Given the description of an element on the screen output the (x, y) to click on. 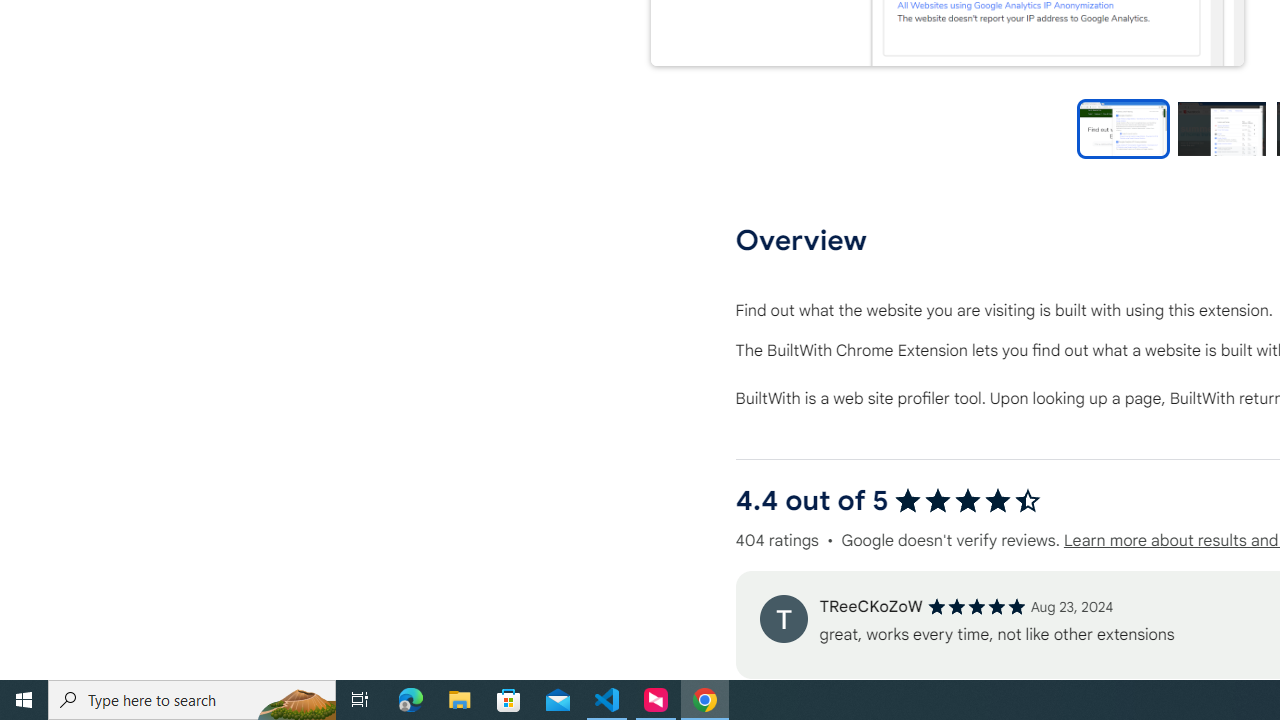
Type here to search (191, 699)
Search highlights icon opens search home window (295, 699)
Preview slide 2 (1221, 128)
Microsoft Edge (411, 699)
File Explorer (460, 699)
5 out of 5 stars (975, 606)
Start (24, 699)
Preview slide 1 (1123, 128)
Microsoft Store (509, 699)
Task View (359, 699)
Visual Studio Code - 1 running window (607, 699)
4.4 out of 5 stars (967, 500)
Review's profile picture (783, 618)
